Given the description of an element on the screen output the (x, y) to click on. 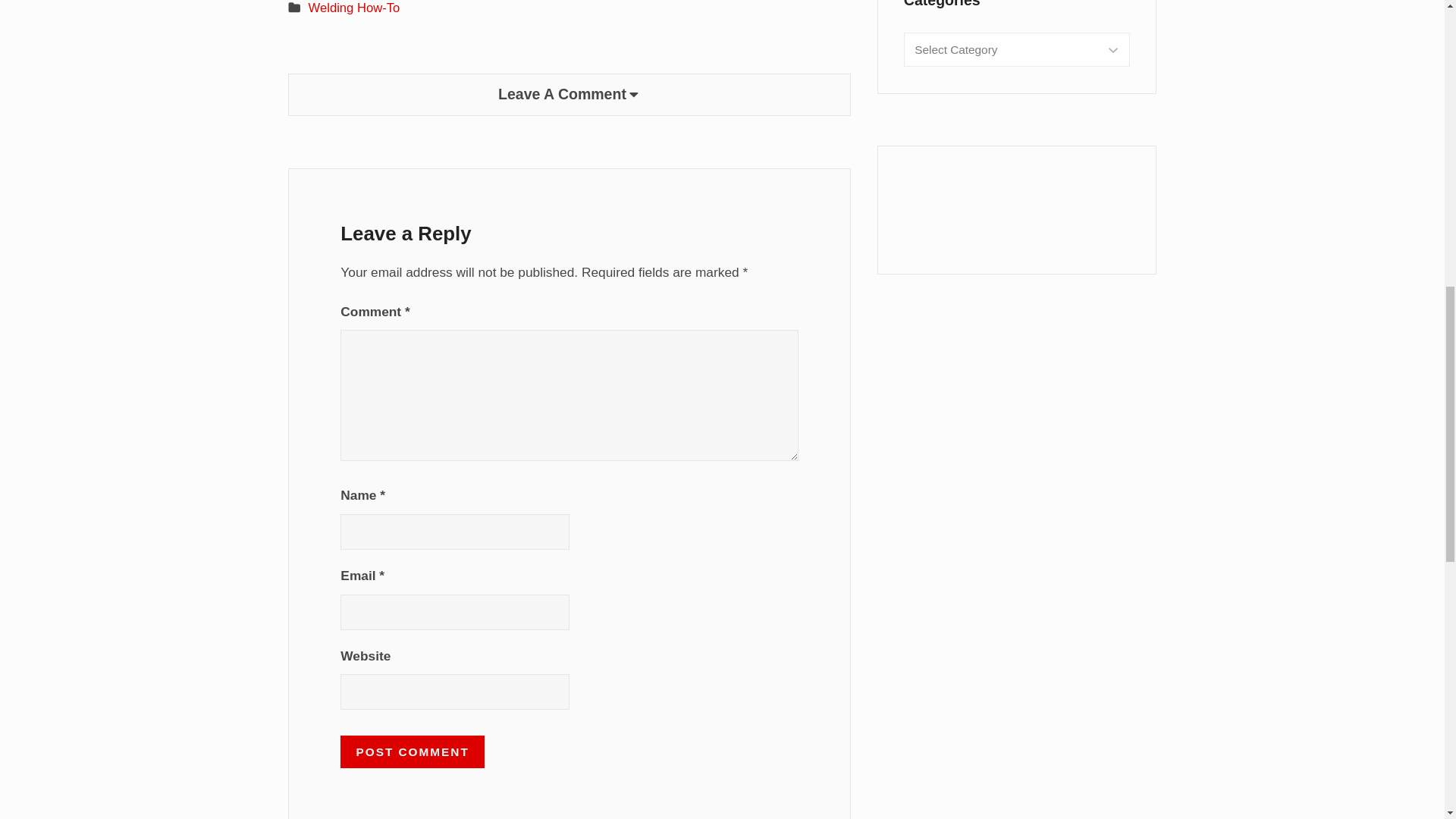
Post Comment (412, 751)
